Given the description of an element on the screen output the (x, y) to click on. 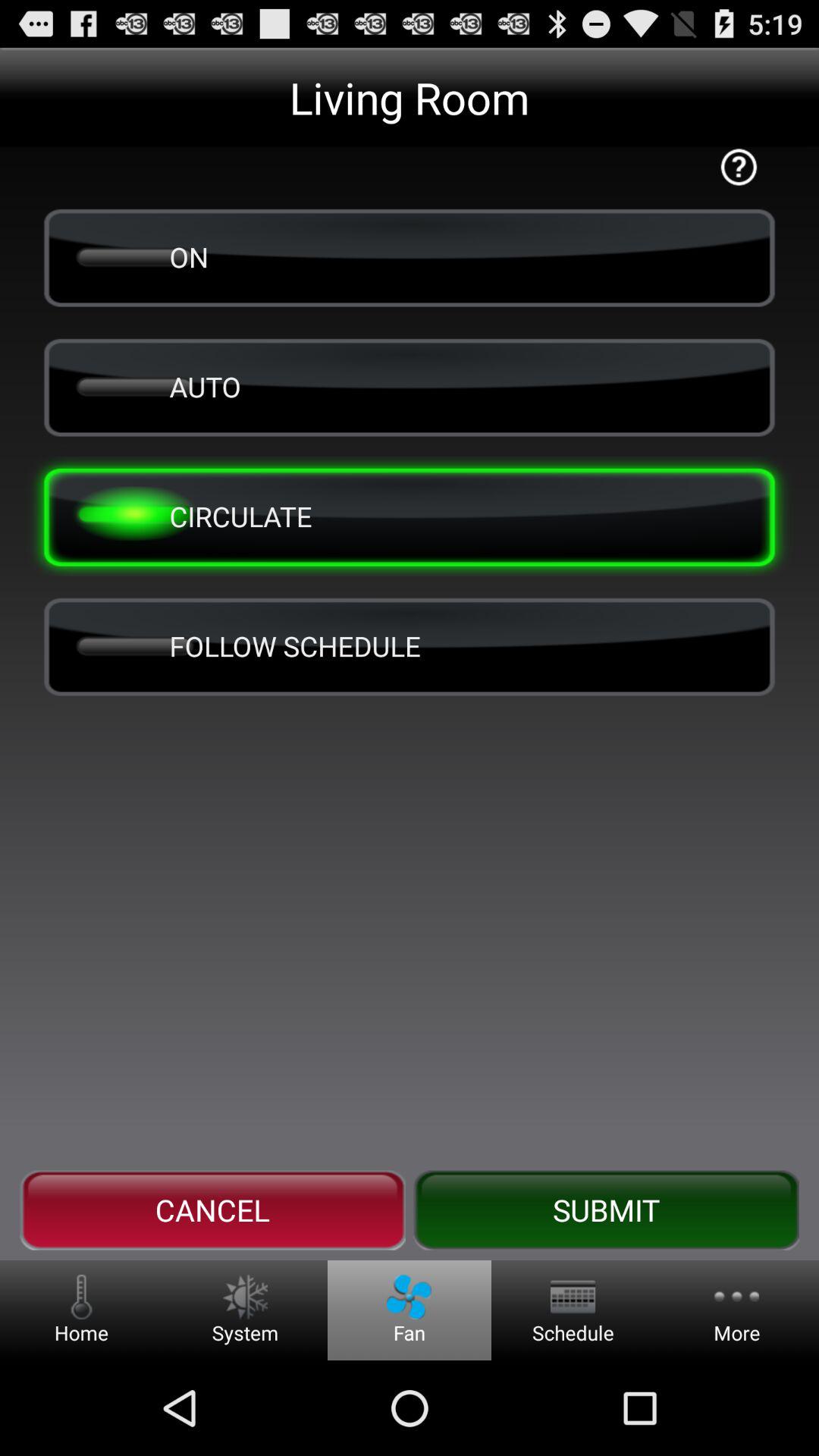
scroll until follow schedule item (409, 645)
